Given the description of an element on the screen output the (x, y) to click on. 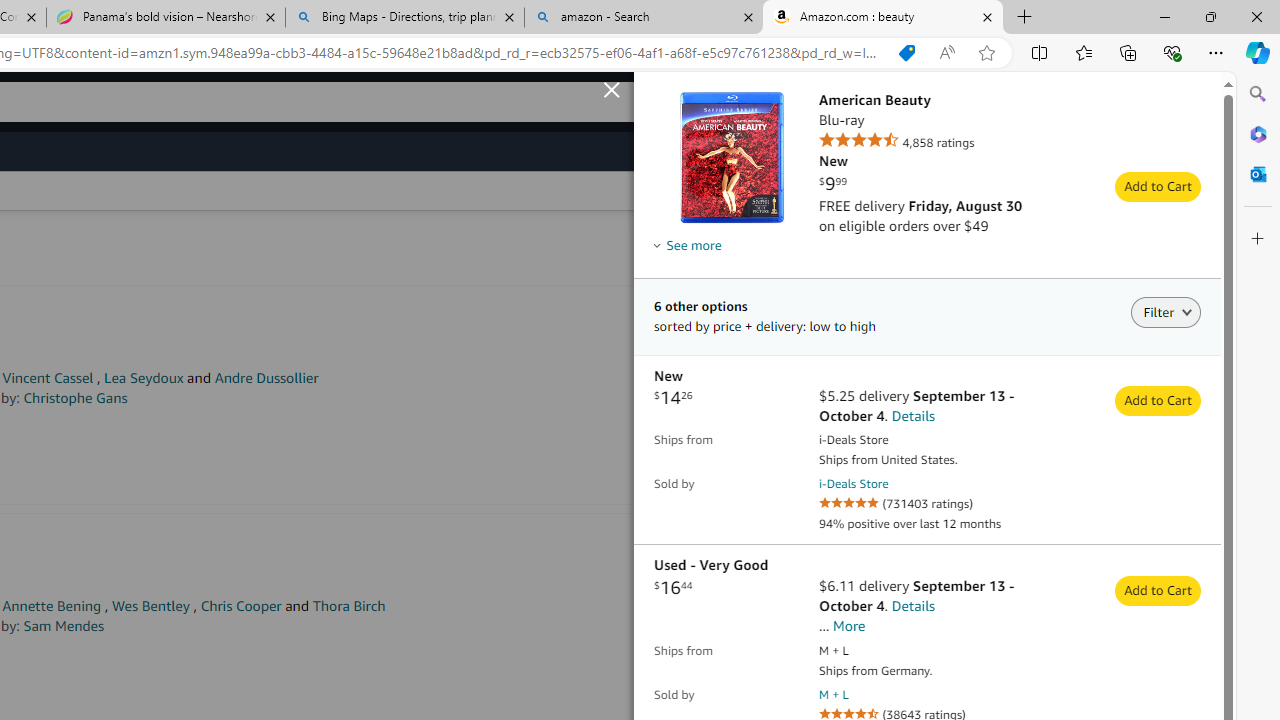
Add this page to favorites (Ctrl+D) (986, 53)
Hello, sign in Account & Lists (852, 101)
Andre Dussollier (265, 378)
Minimize (1164, 16)
Add to Cart from seller i-Deals Store and price $14.26  (1158, 401)
Go to Cart (1171, 234)
Add to Cart from seller M + L and price $16.44  (1158, 591)
Thora Birch (349, 606)
American Beauty (1009, 100)
aod-close (614, 87)
Favorites (1083, 52)
About details for this option. (687, 245)
Amazon.com : beauty (883, 17)
Settings and more (Alt+F) (1215, 52)
